Given the description of an element on the screen output the (x, y) to click on. 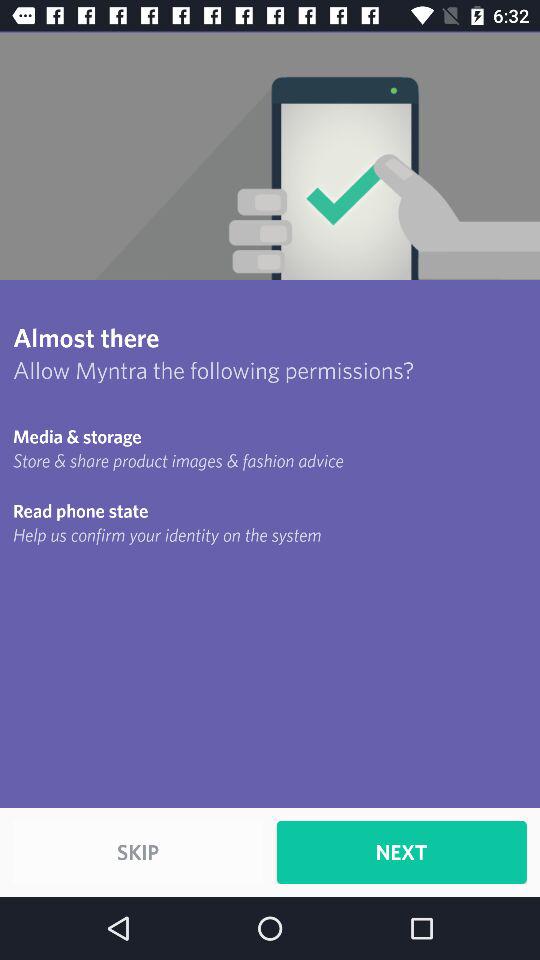
launch item below help us confirm item (138, 851)
